Given the description of an element on the screen output the (x, y) to click on. 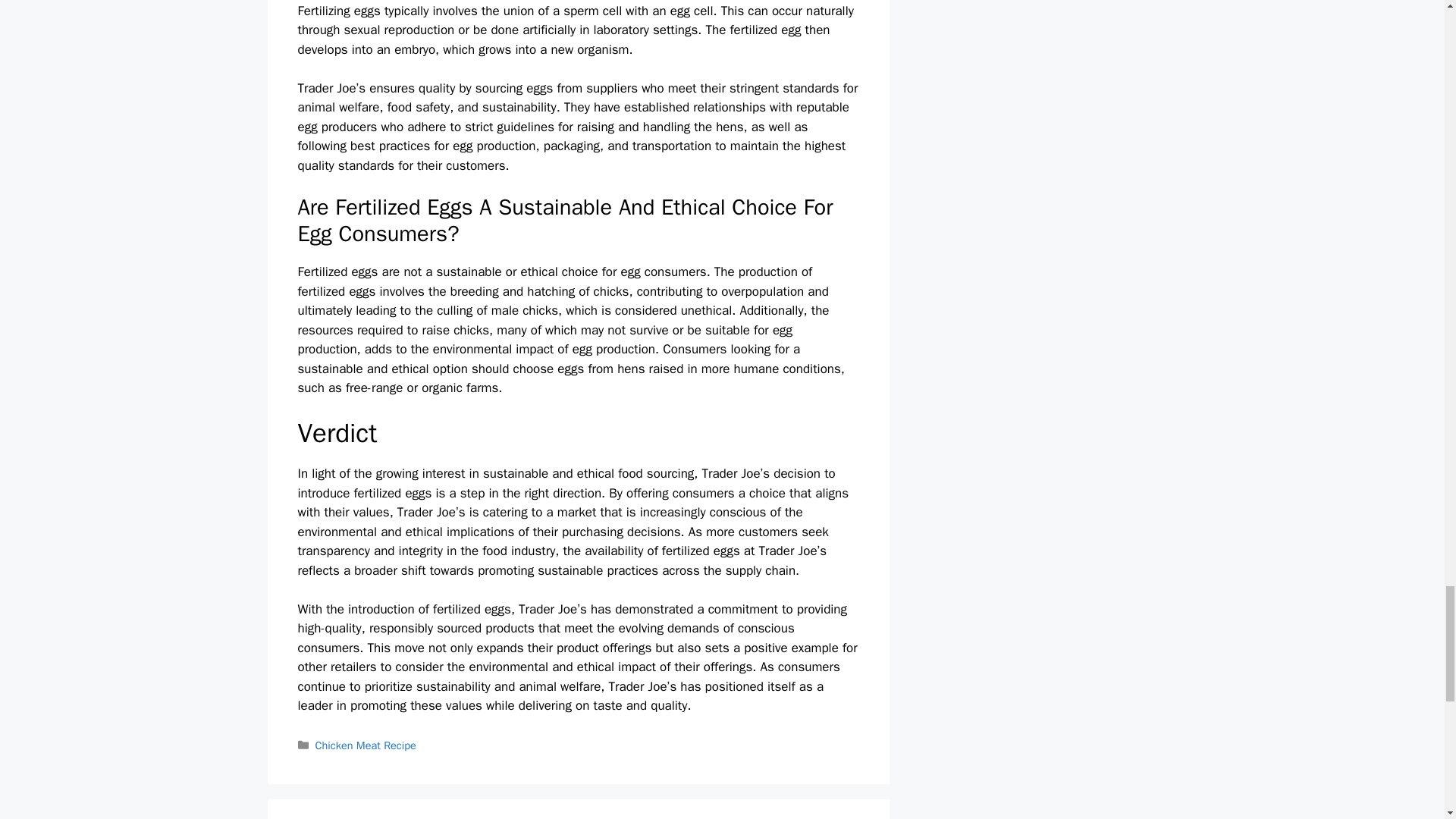
Chicken Meat Recipe (365, 745)
